Given the description of an element on the screen output the (x, y) to click on. 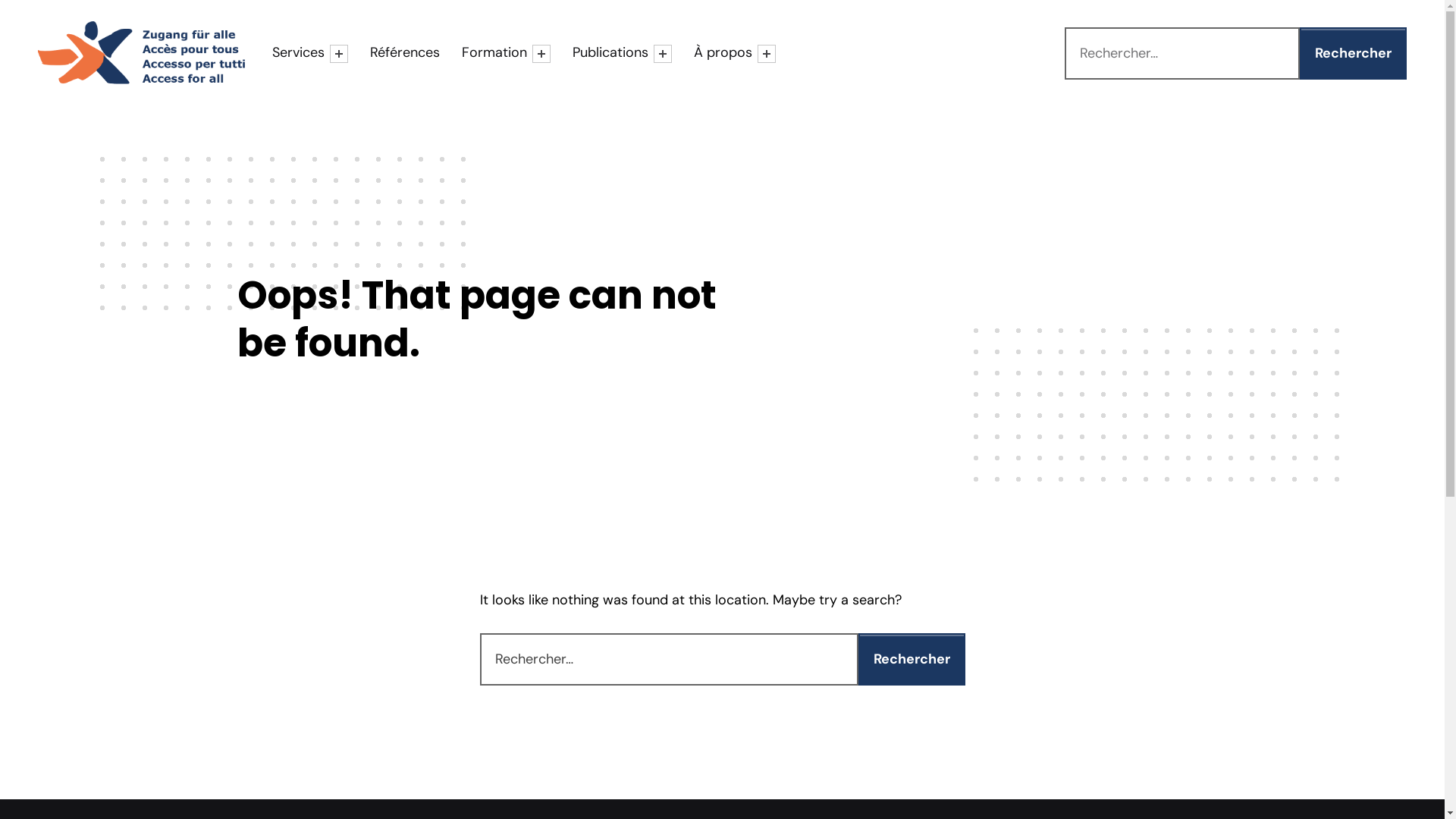
Publications Element type: text (612, 53)
Services Element type: text (300, 53)
Formation Element type: text (496, 53)
Rechercher Element type: text (911, 659)
Rechercher Element type: text (1352, 53)
